Given the description of an element on the screen output the (x, y) to click on. 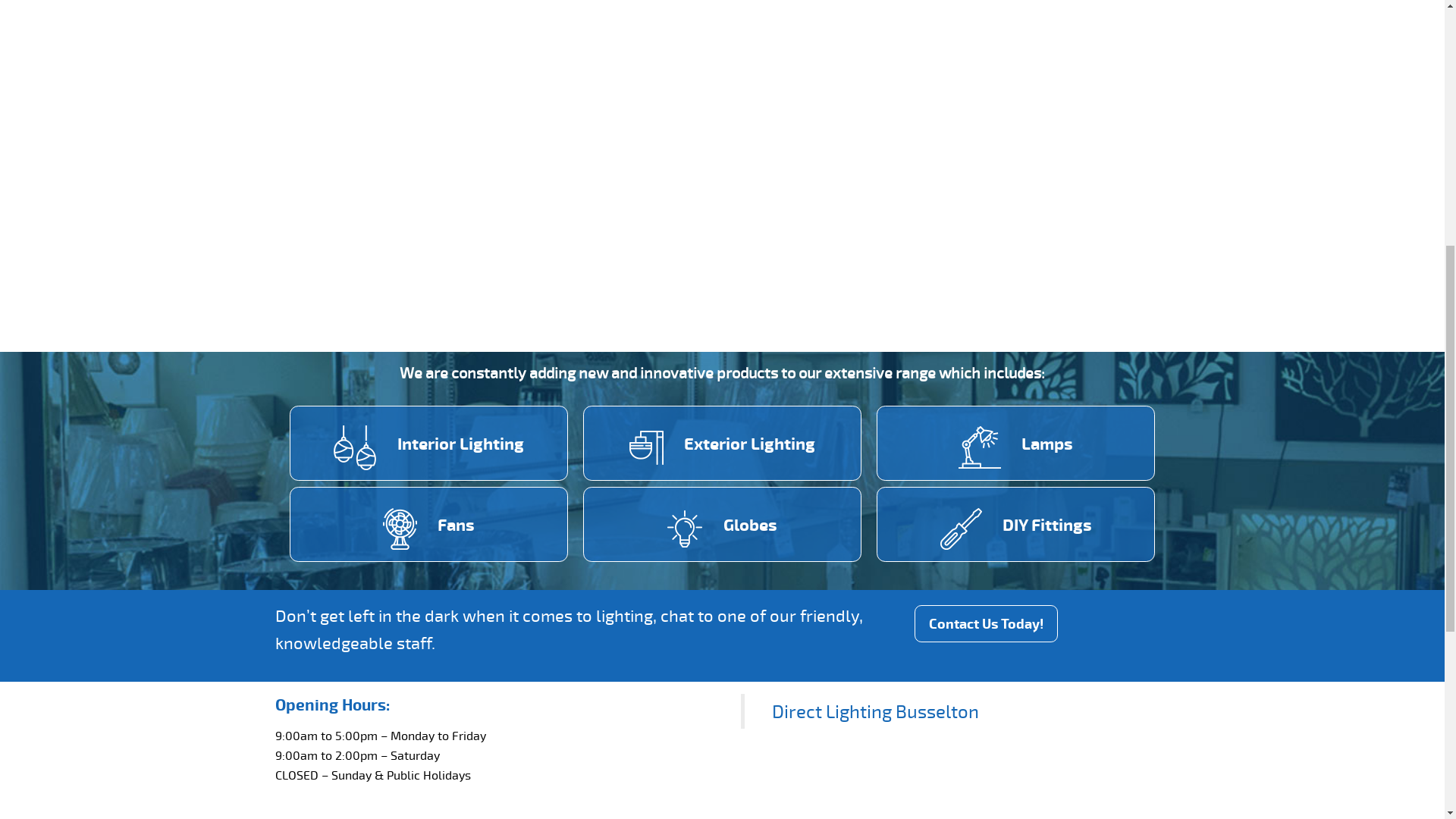
Contact Element type: text (792, 244)
Garden Lighting Element type: text (686, 244)
Showroom Element type: text (458, 244)
Our Lighting Element type: text (564, 244)
08 9754 4450 Element type: text (1055, 129)
Home Element type: text (304, 244)
About Element type: text (373, 244)
